Given the description of an element on the screen output the (x, y) to click on. 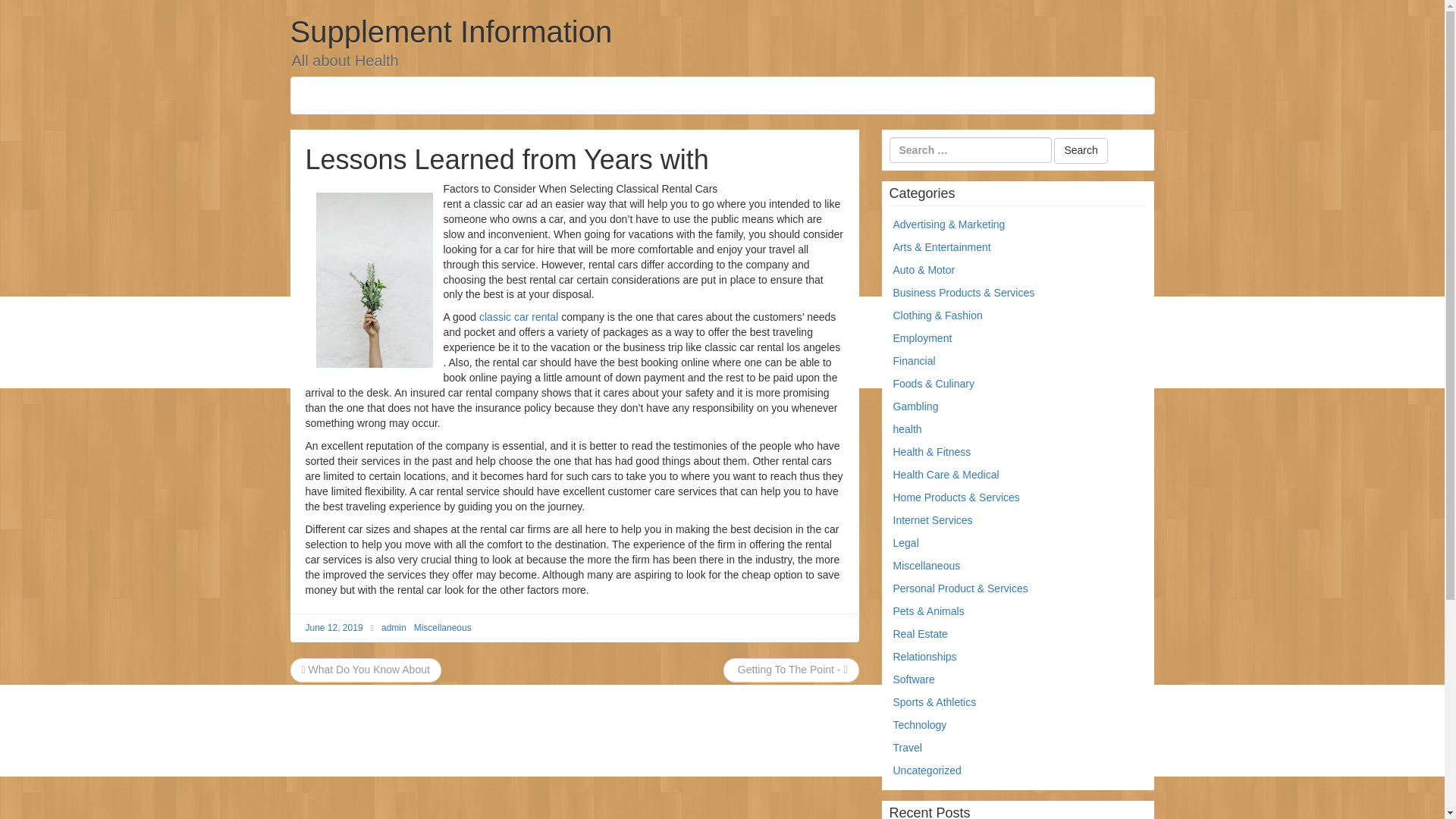
Relationships (924, 656)
Employment (922, 337)
Search (1080, 150)
Real Estate (920, 633)
Miscellaneous (442, 627)
health (907, 428)
Supplement Information (450, 31)
classic car rental (518, 316)
admin (393, 627)
Miscellaneous (926, 565)
Software (913, 679)
 Getting To The Point -  (791, 669)
 What Do You Know About (365, 669)
Search (1080, 150)
Uncategorized (926, 770)
